Given the description of an element on the screen output the (x, y) to click on. 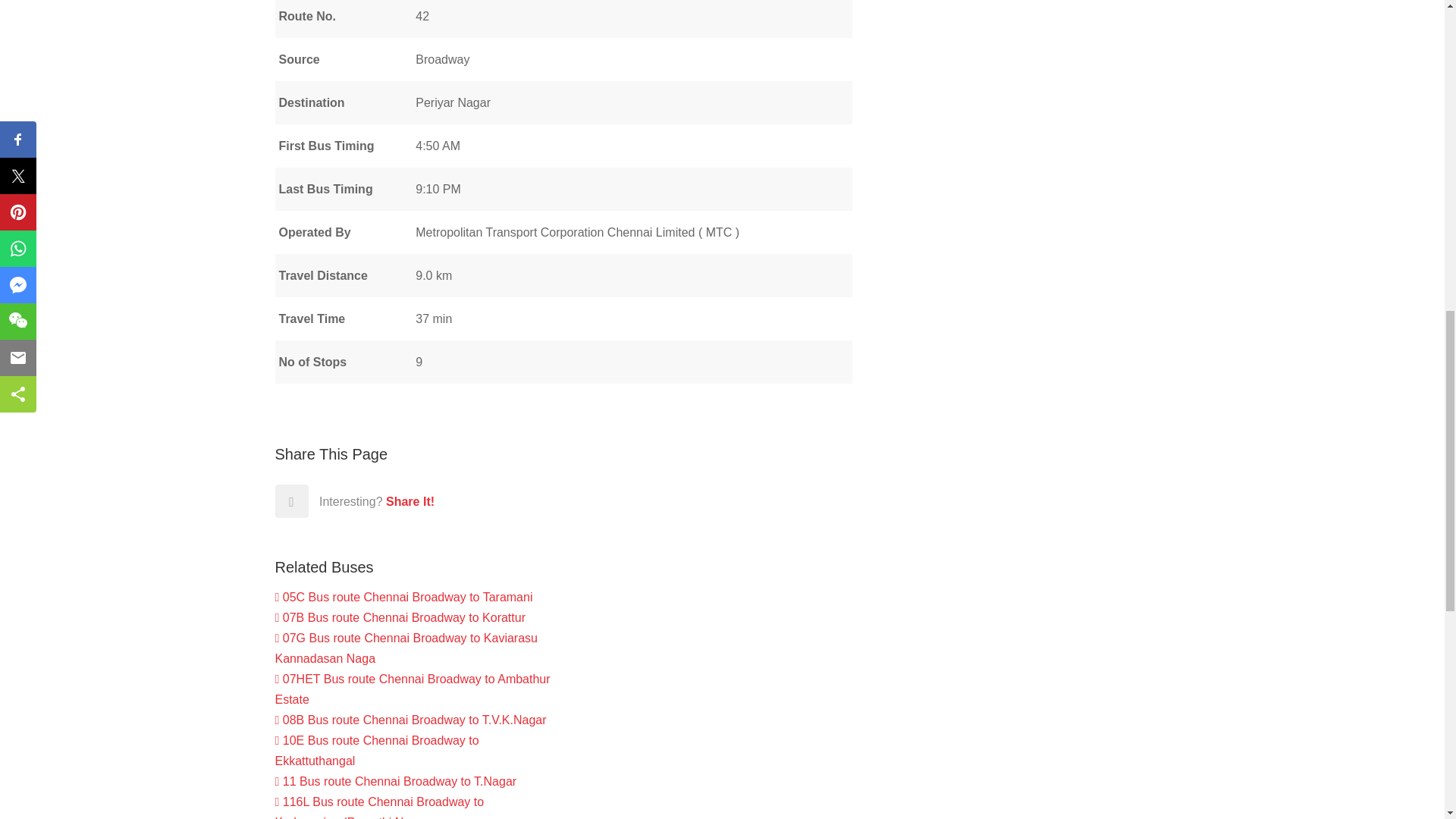
07G Bus route Chennai Broadway to Kaviarasu Kannadasan Naga (406, 648)
05C Bus route Chennai Broadway to Taramani (403, 596)
07HET Bus route Chennai Broadway to Ambathur Estate (412, 688)
08B Bus route Chennai Broadway to T.V.K.Nagar (410, 719)
07B Bus route Chennai Broadway to Korattur (399, 617)
11 Bus route Chennai Broadway to T.Nagar (395, 780)
10E Bus route Chennai Broadway to Ekkattuthangal (377, 750)
